Given the description of an element on the screen output the (x, y) to click on. 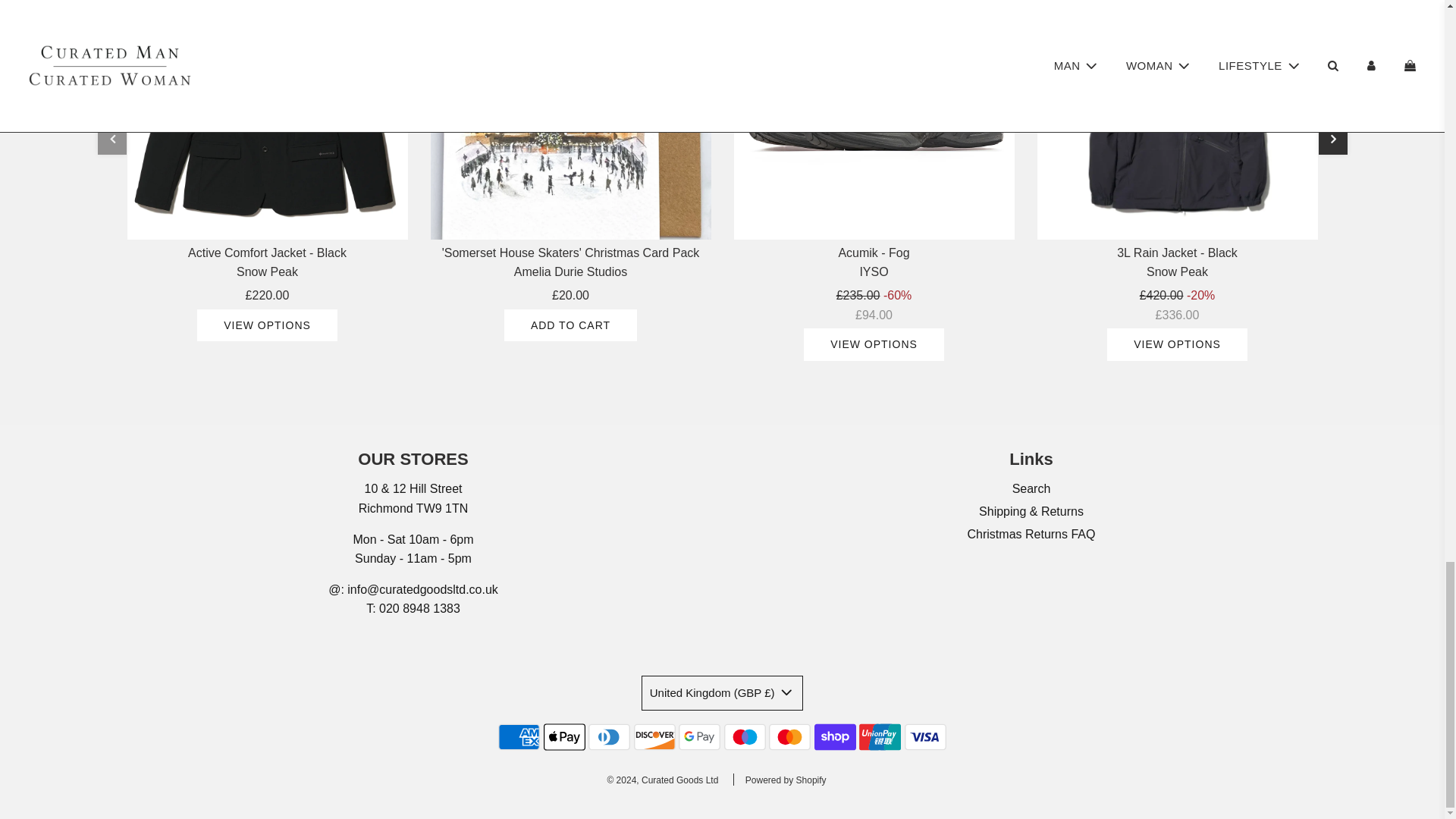
'Somerset House Skaters' Christmas Card Pack (570, 119)
Union Pay (880, 736)
Mastercard (789, 736)
3L Rain Jacket - Black (1176, 119)
Active Comfort Jacket - Black (267, 119)
Shop Pay (834, 736)
Maestro (744, 736)
Discover (654, 736)
Diners Club (609, 736)
American Express (518, 736)
Acumik - Fog (873, 119)
Apple Pay (564, 736)
Visa (925, 736)
Google Pay (699, 736)
